Given the description of an element on the screen output the (x, y) to click on. 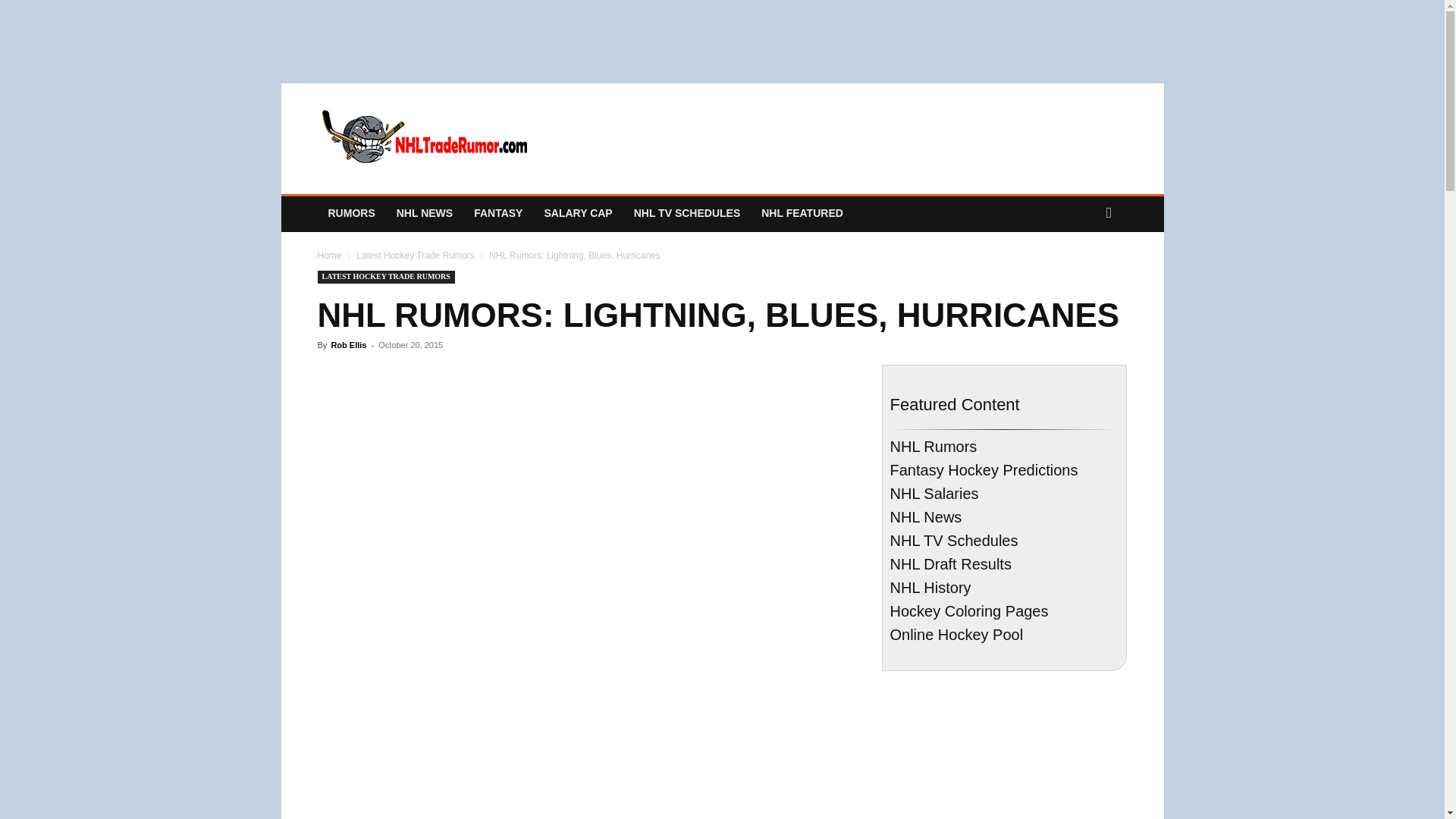
RUMORS (351, 212)
NHL NEWS (424, 212)
FANTASY (497, 212)
Latest NHL news and rumors (351, 212)
NHL Salary Cap (577, 212)
Fantasy Hockey Predictions (497, 212)
